Given the description of an element on the screen output the (x, y) to click on. 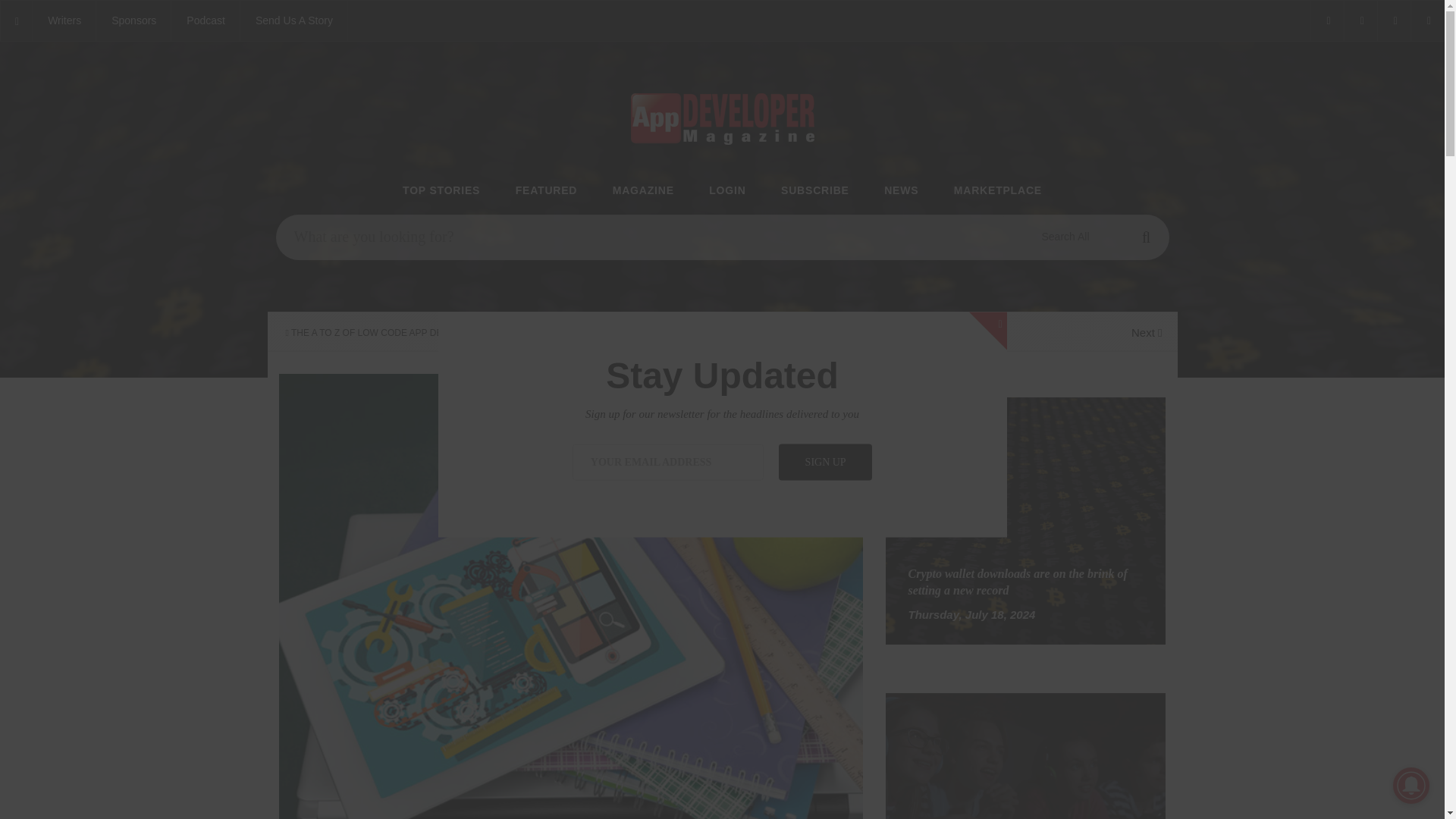
Our Instagram (1393, 20)
FEATURED (546, 190)
Send Us A Story (293, 20)
MAGAZINE (643, 190)
Our RSS (1427, 20)
Our Facebook (1326, 20)
Sponsors (133, 20)
TOP STORIES (441, 190)
NEWS (900, 190)
App Developer Magazine (205, 20)
Podcast (205, 20)
SUBSCRIBE (814, 190)
sign up (825, 461)
Our Twitter (1360, 20)
